Given the description of an element on the screen output the (x, y) to click on. 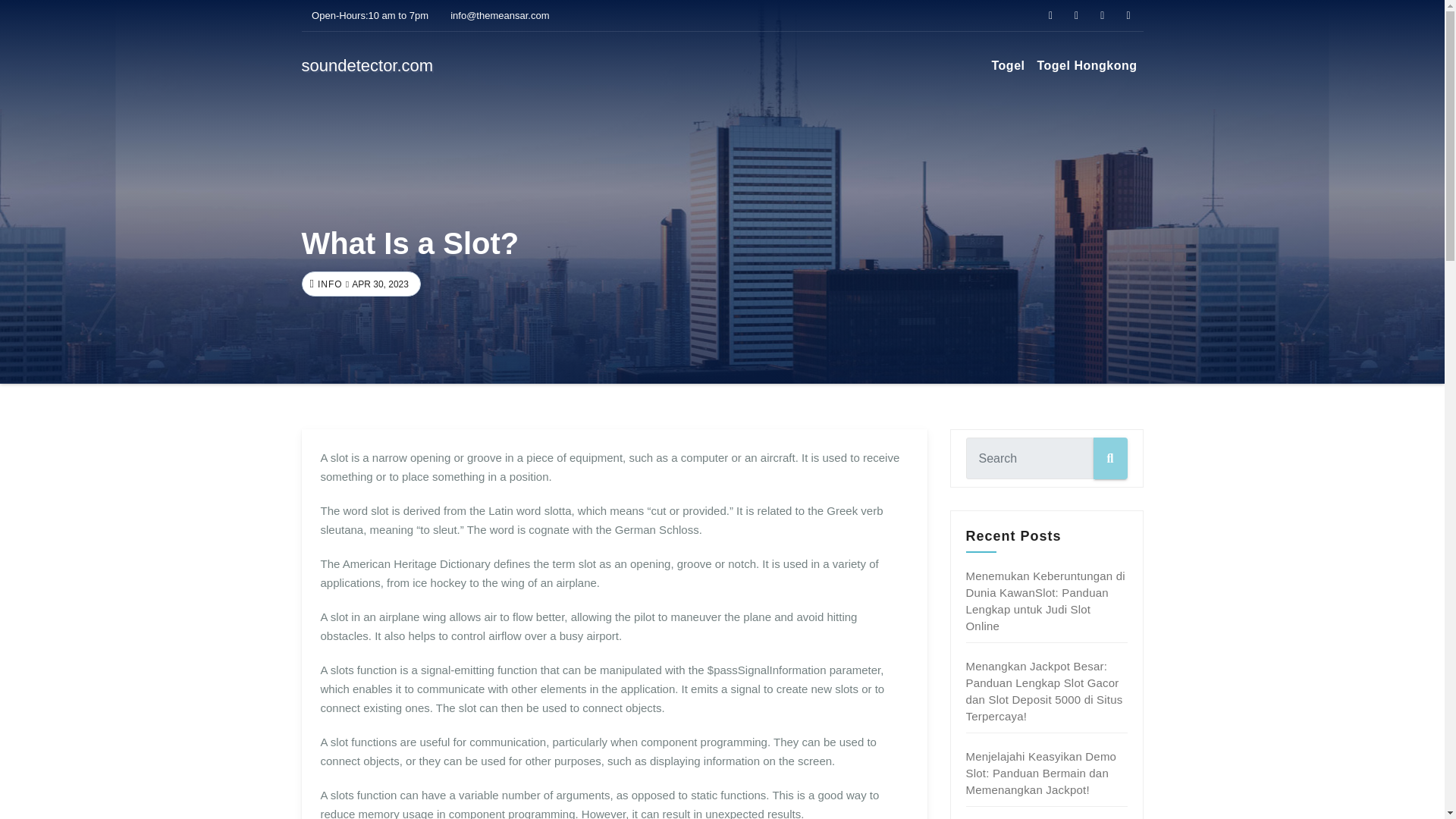
INFO (328, 284)
soundetector.com (367, 65)
Togel Hongkong (1086, 65)
Togel Hongkong (1086, 65)
Open-Hours:10 am to 7pm (365, 15)
